Given the description of an element on the screen output the (x, y) to click on. 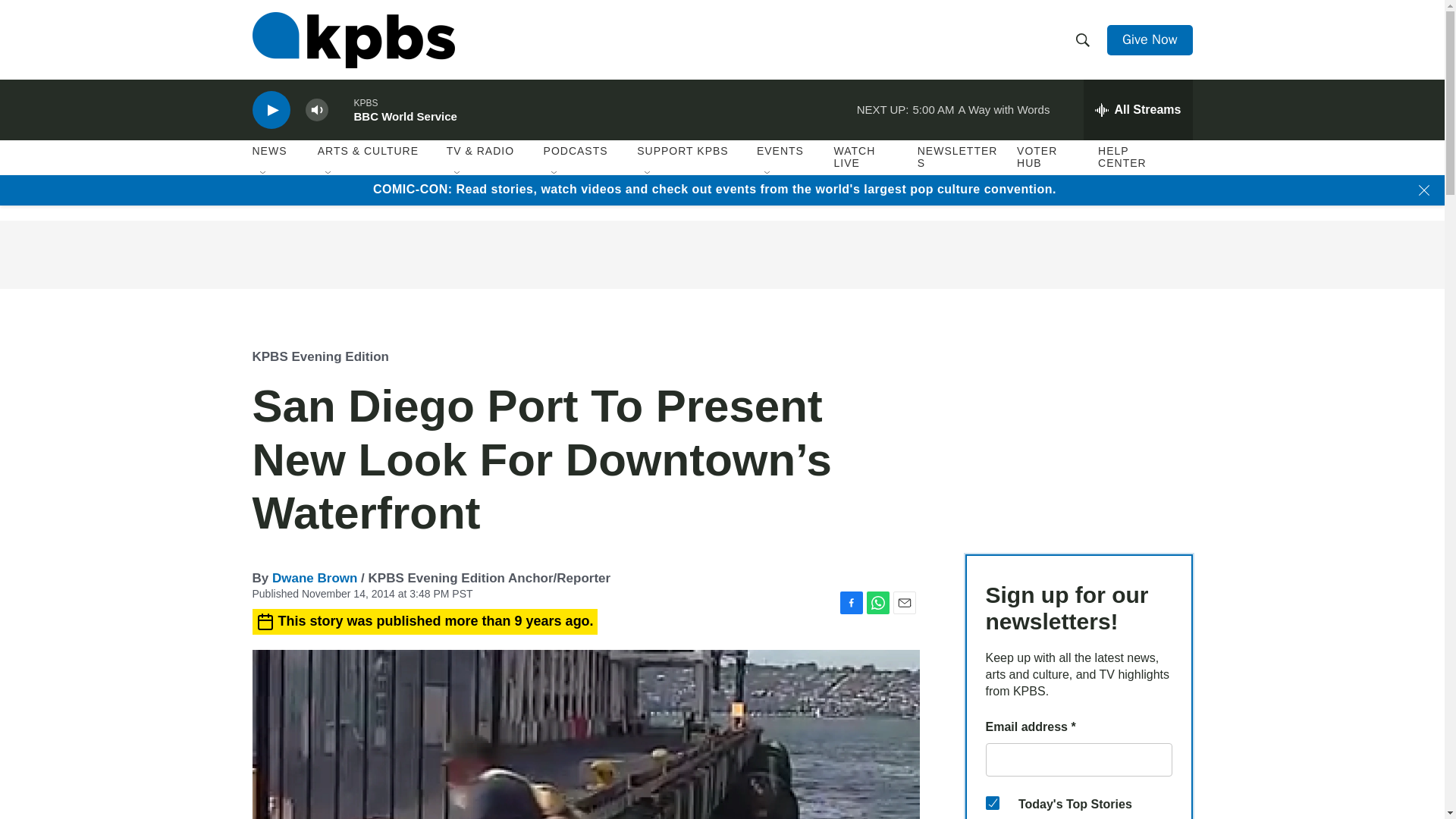
3rd party ad content (1077, 429)
3rd party ad content (721, 254)
4 (991, 802)
